Given the description of an element on the screen output the (x, y) to click on. 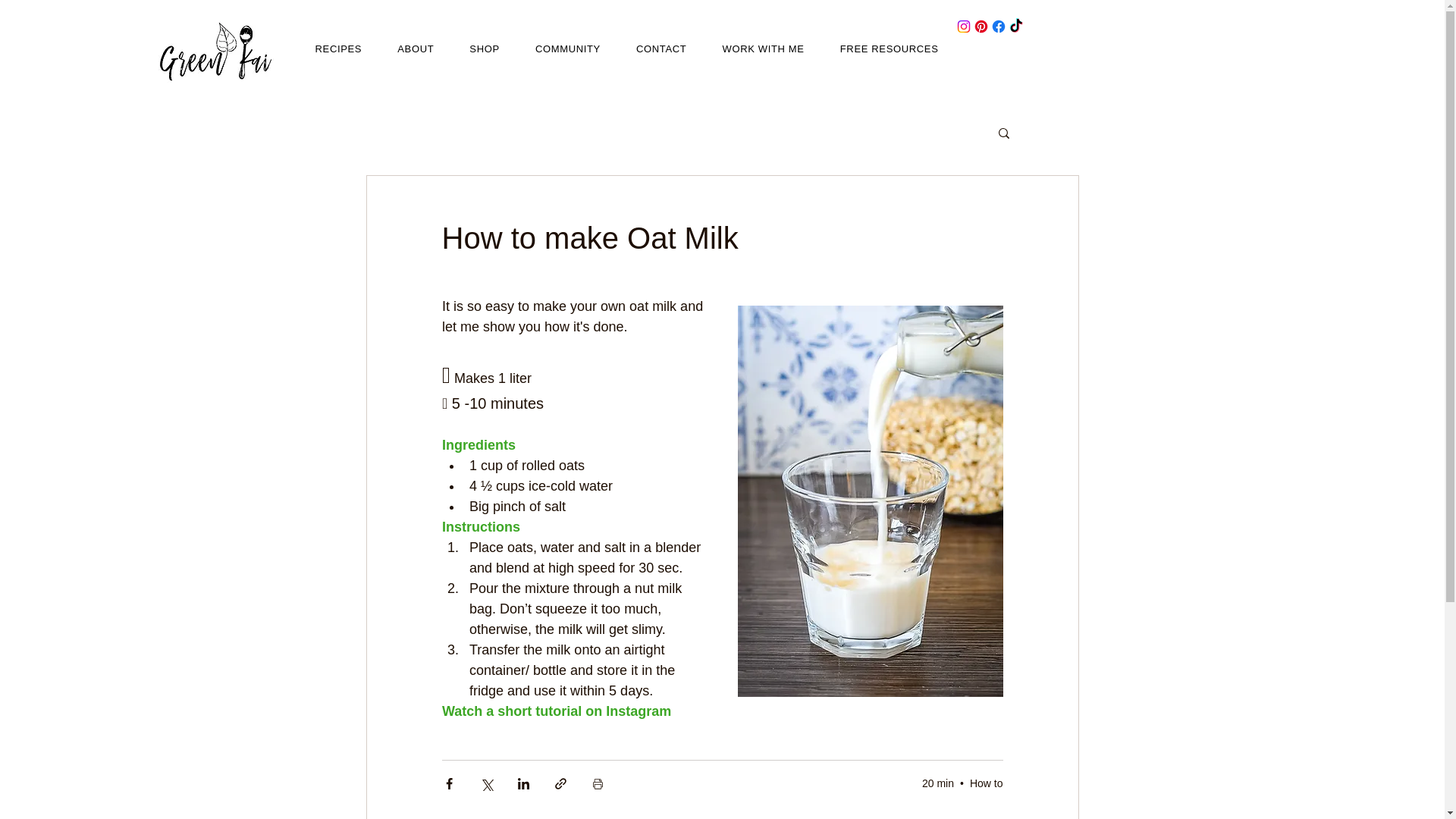
RECIPES (338, 49)
SHOP (485, 49)
How to (986, 782)
FREE RESOURCES (889, 49)
Watch a short tutorial on Instagram (555, 711)
CONTACT (661, 49)
WORK WITH ME (762, 49)
COMMUNITY (567, 49)
20 min (937, 782)
Green Kai (216, 56)
